Given the description of an element on the screen output the (x, y) to click on. 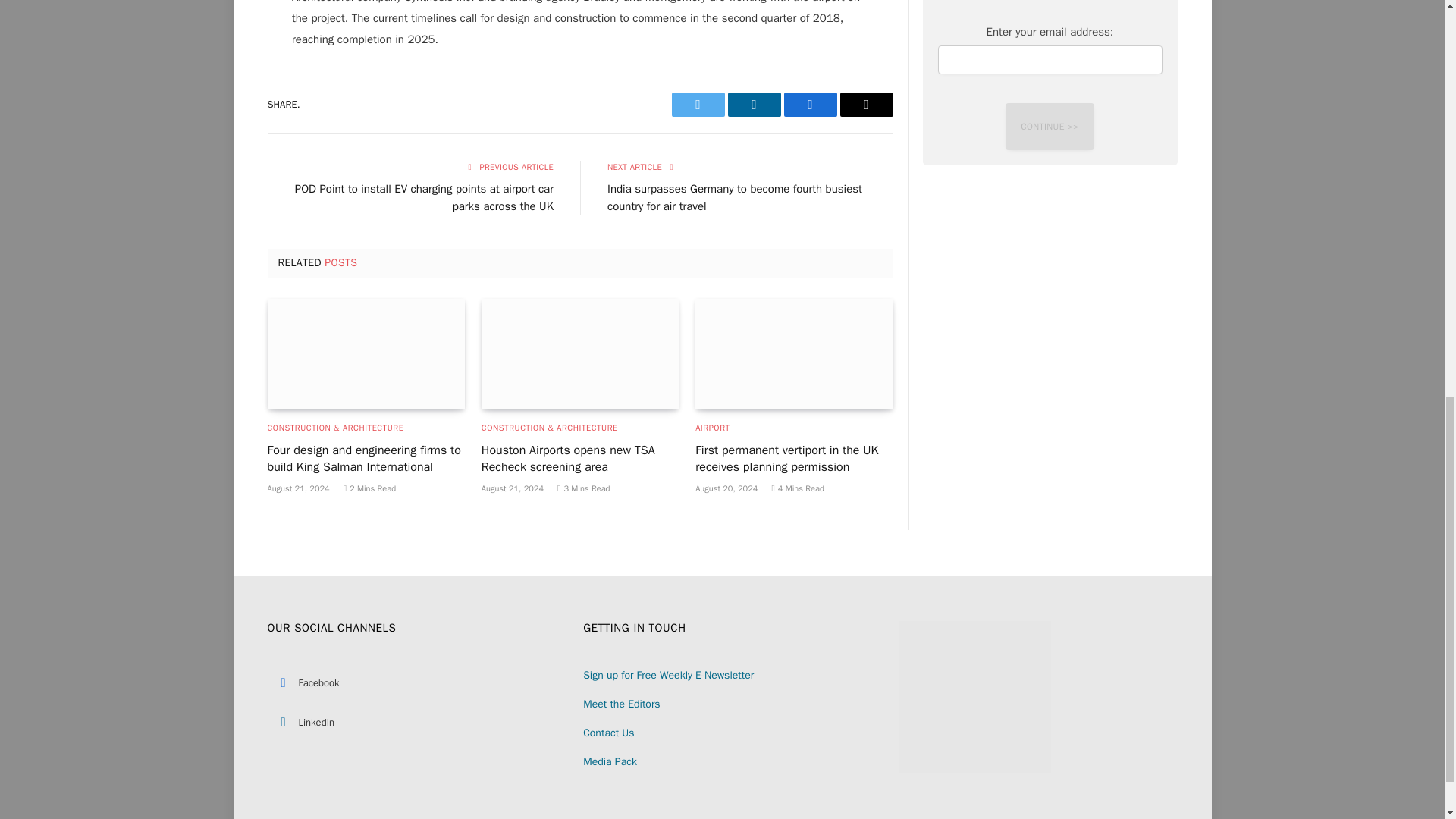
Share on LinkedIn (754, 104)
Share on Facebook (810, 104)
Houston Airports opens new TSA Recheck screening area (579, 353)
Share via Email (866, 104)
